Given the description of an element on the screen output the (x, y) to click on. 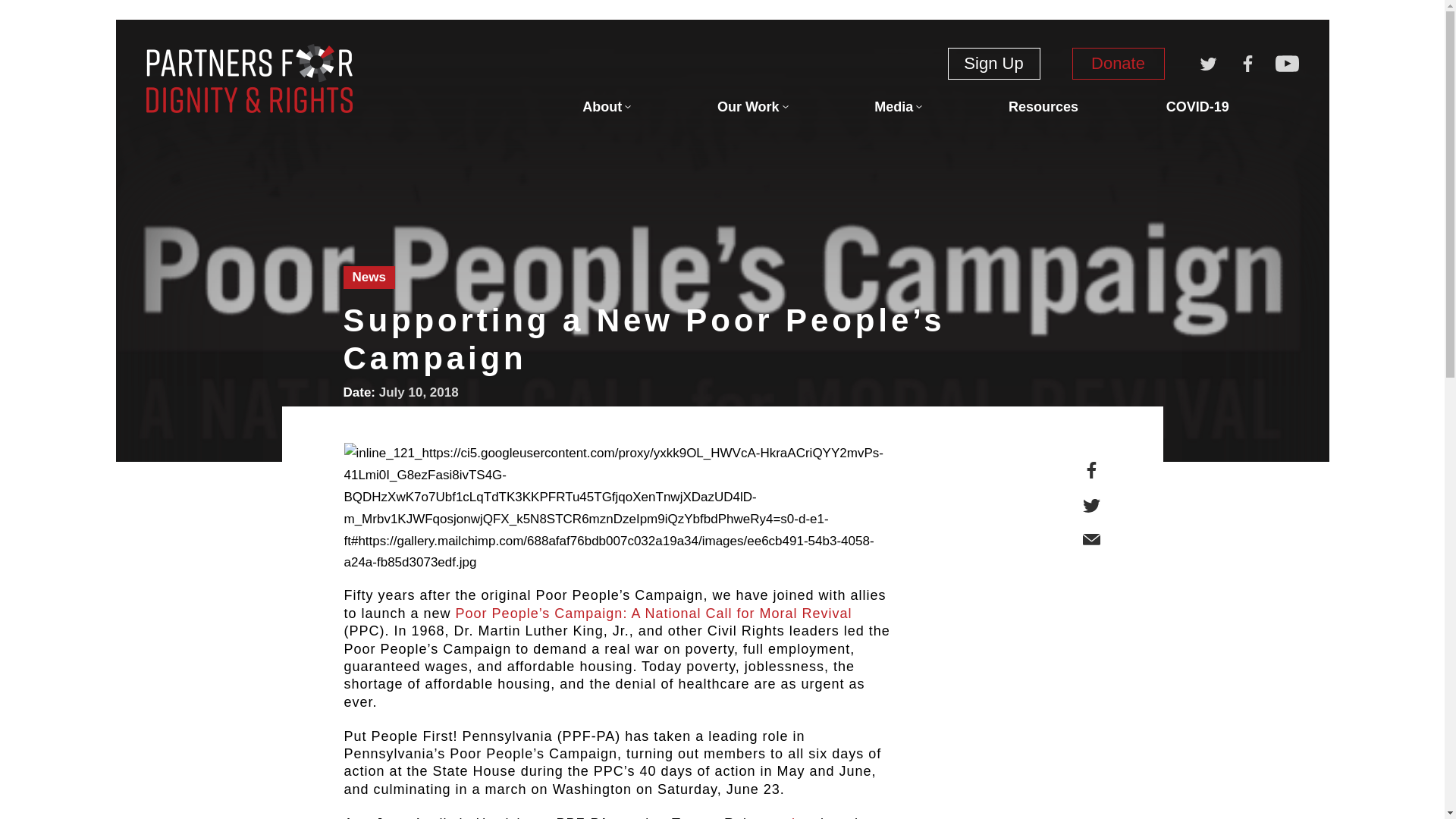
About (605, 106)
Our Work (752, 106)
spoke (787, 817)
News (368, 277)
Donate (1117, 63)
COVID-19 (1197, 106)
Media (897, 106)
Resources (1043, 106)
Share via email (1091, 539)
Sign Up (994, 63)
